Given the description of an element on the screen output the (x, y) to click on. 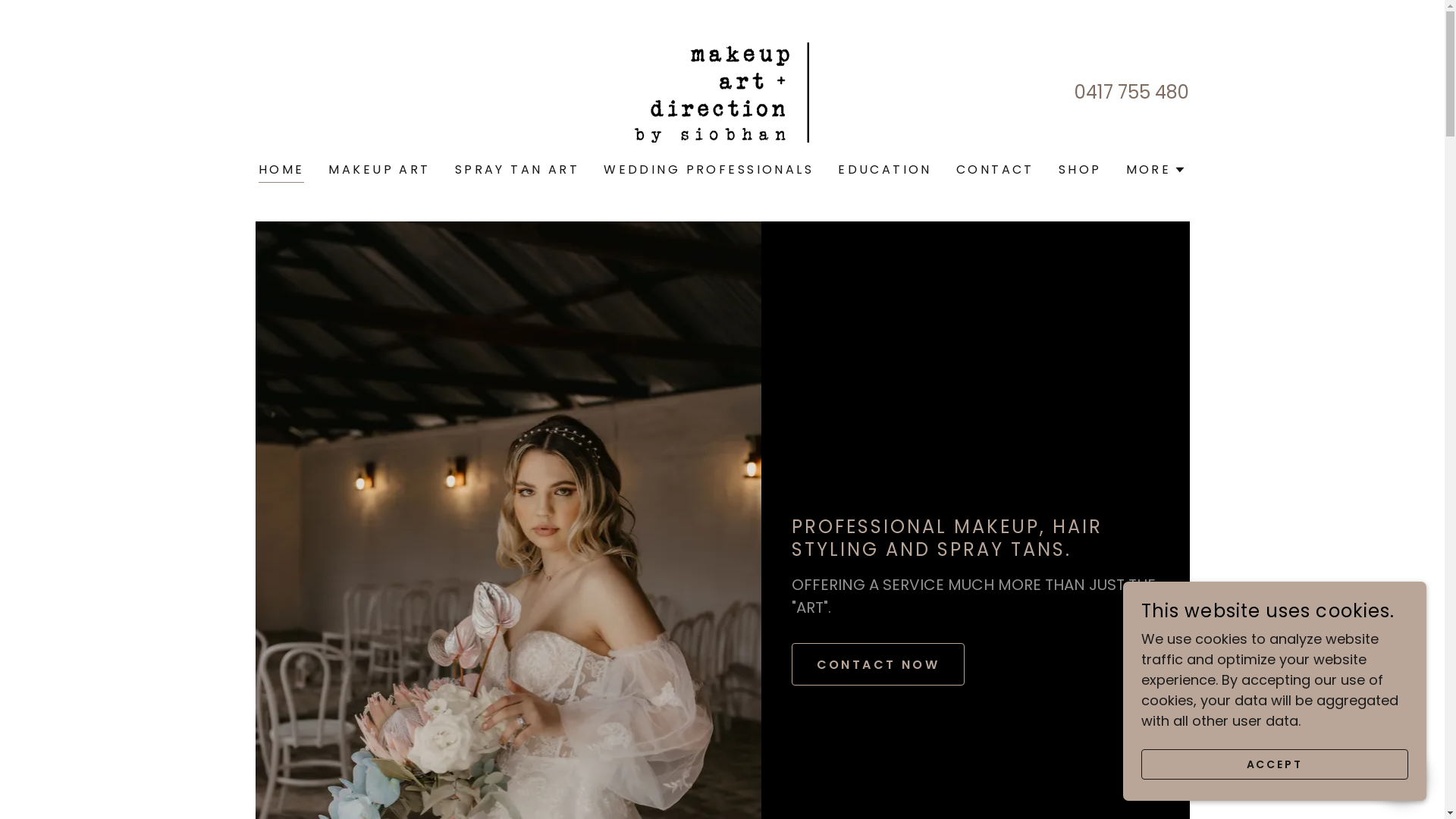
Makeup Art + Direction Element type: hover (721, 90)
CONTACT NOW Element type: text (878, 664)
HOME Element type: text (281, 171)
ACCEPT Element type: text (1274, 764)
MAKEUP ART Element type: text (378, 169)
WEDDING PROFESSIONALS Element type: text (708, 169)
CONTACT Element type: text (994, 169)
EDUCATION Element type: text (884, 169)
0417 755 480 Element type: text (1131, 91)
SHOP Element type: text (1080, 169)
SPRAY TAN ART Element type: text (517, 169)
MORE Element type: text (1156, 169)
